Given the description of an element on the screen output the (x, y) to click on. 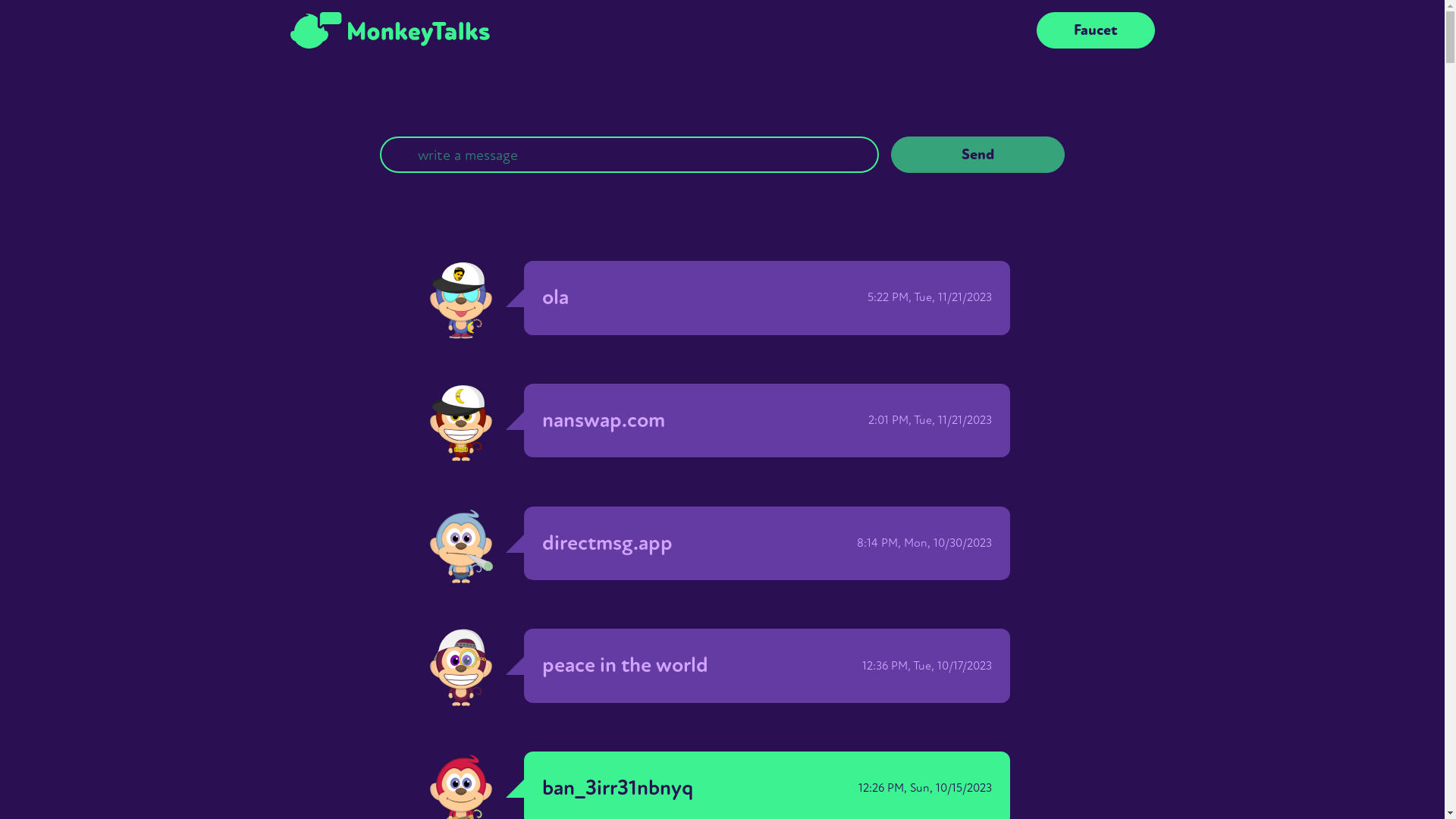
nanswap.com Element type: text (603, 420)
directmsg.app Element type: text (607, 543)
Faucet Element type: text (1094, 30)
Send Element type: text (977, 154)
